Given the description of an element on the screen output the (x, y) to click on. 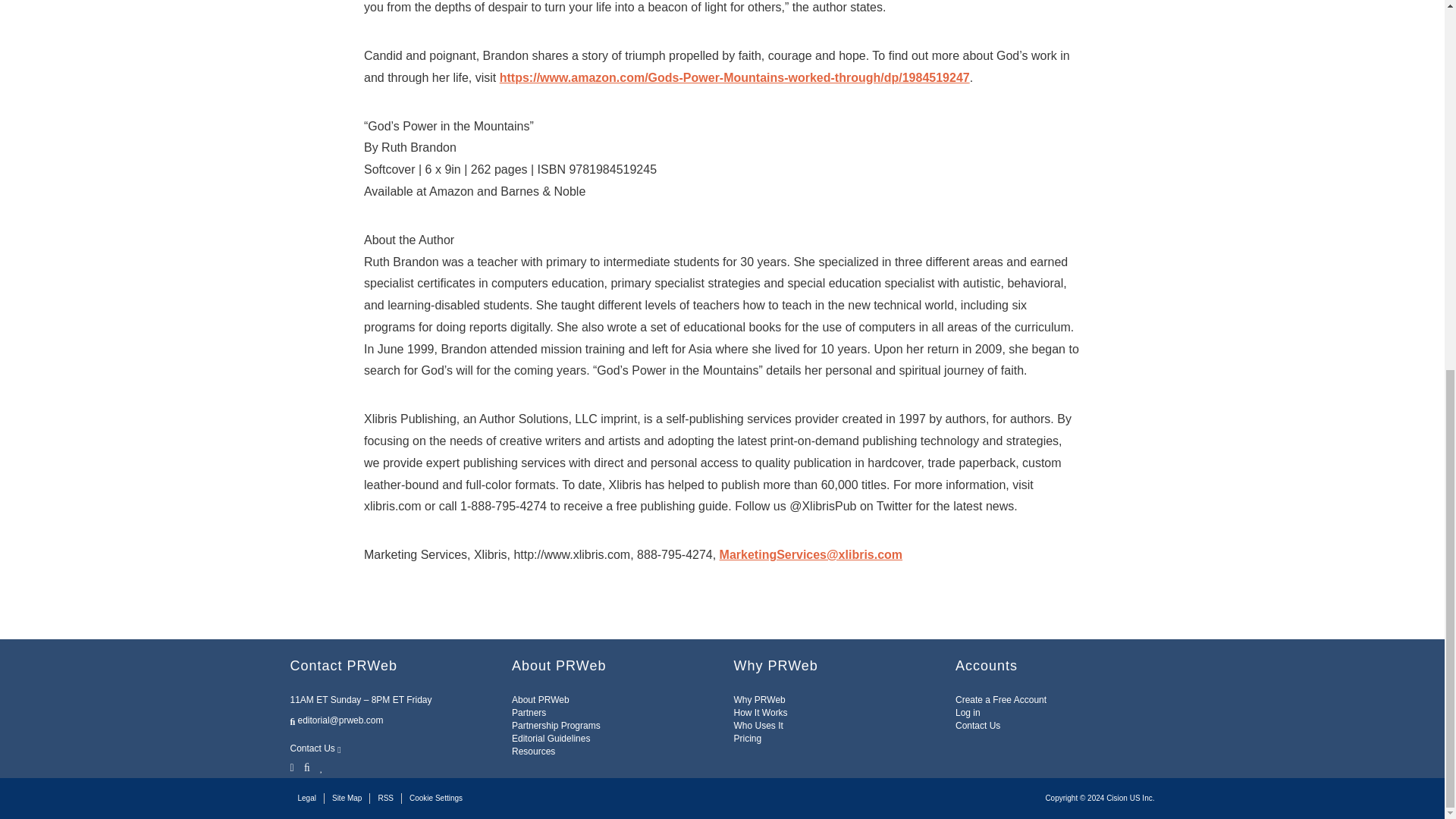
How It Works (760, 712)
Editorial Guidelines (550, 738)
About PRWeb (540, 699)
Resources (533, 751)
Partners (529, 712)
Why PRWeb (759, 699)
Partnership Programs (555, 725)
Facebook (306, 766)
